Given the description of an element on the screen output the (x, y) to click on. 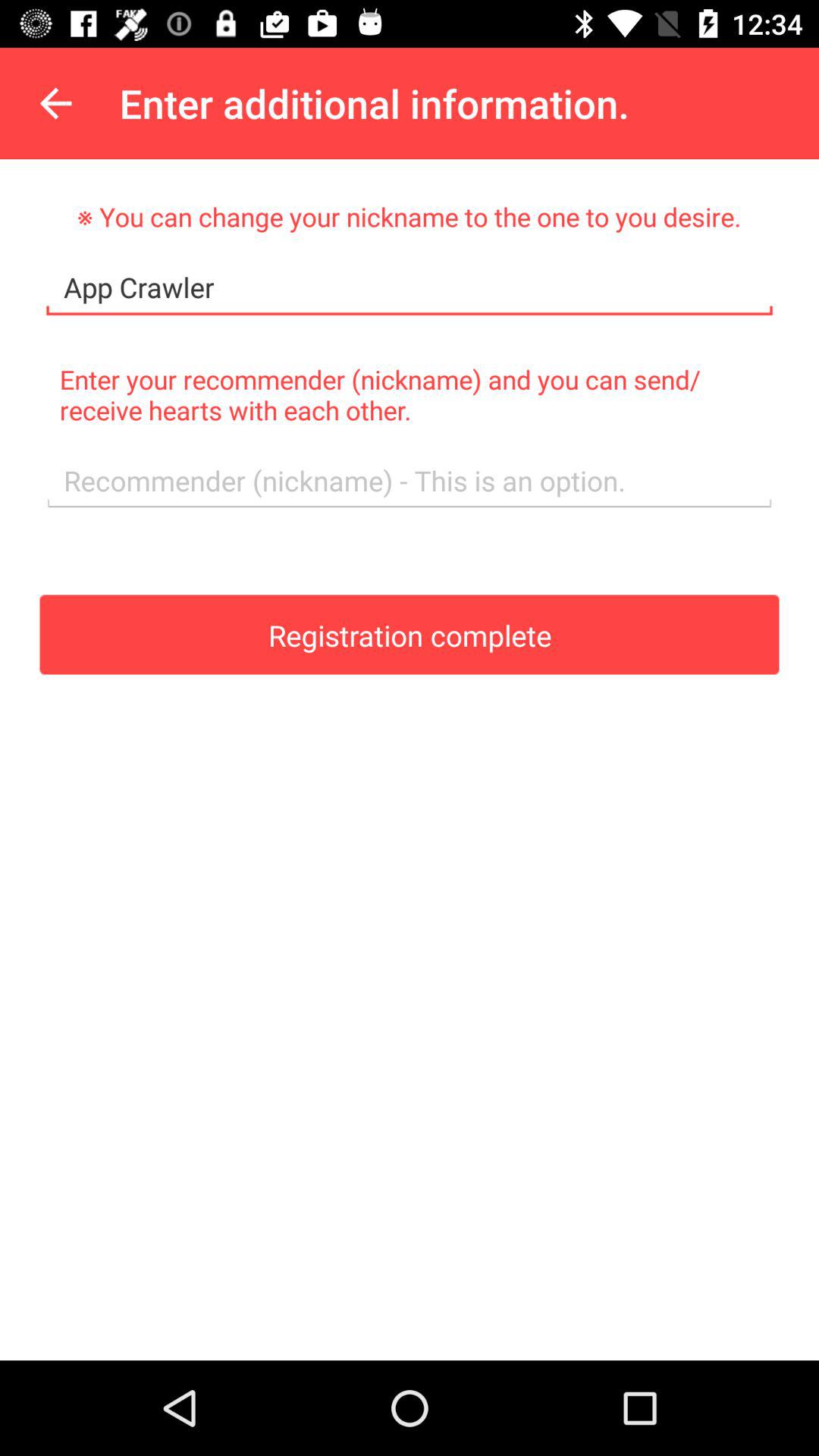
select icon at the center (409, 634)
